Given the description of an element on the screen output the (x, y) to click on. 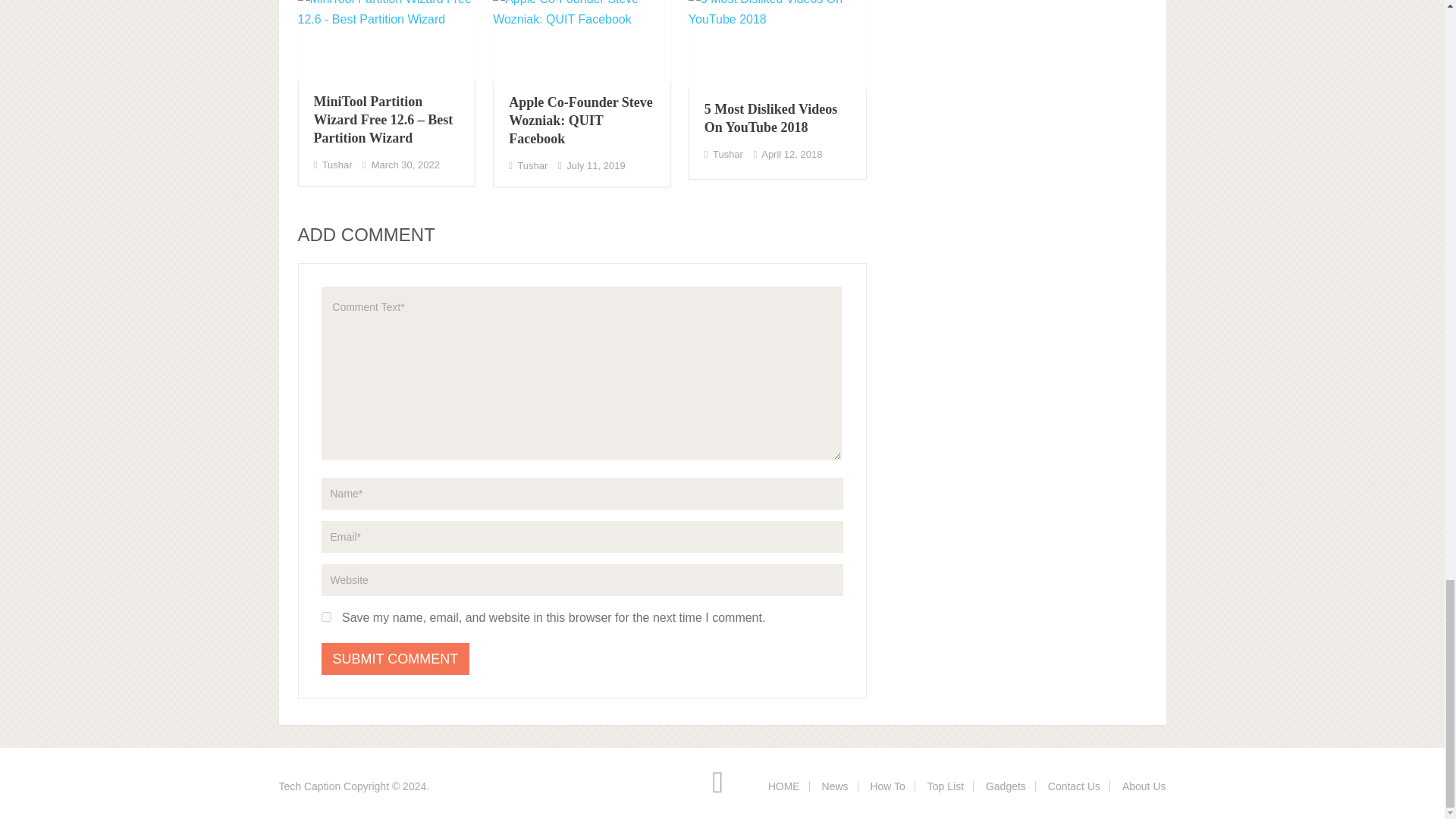
Submit Comment (395, 658)
5 Most Disliked Videos On YouTube 2018 (771, 118)
Apple Co-Founder Steve Wozniak: QUIT Facebook (580, 120)
5 Most Disliked Videos On YouTube 2018 (777, 44)
Posts by Tushar (336, 164)
Posts by Tushar (531, 165)
yes (326, 616)
Posts by Tushar (727, 153)
Apple Co-Founder Steve Wozniak: QUIT Facebook (582, 40)
